Given the description of an element on the screen output the (x, y) to click on. 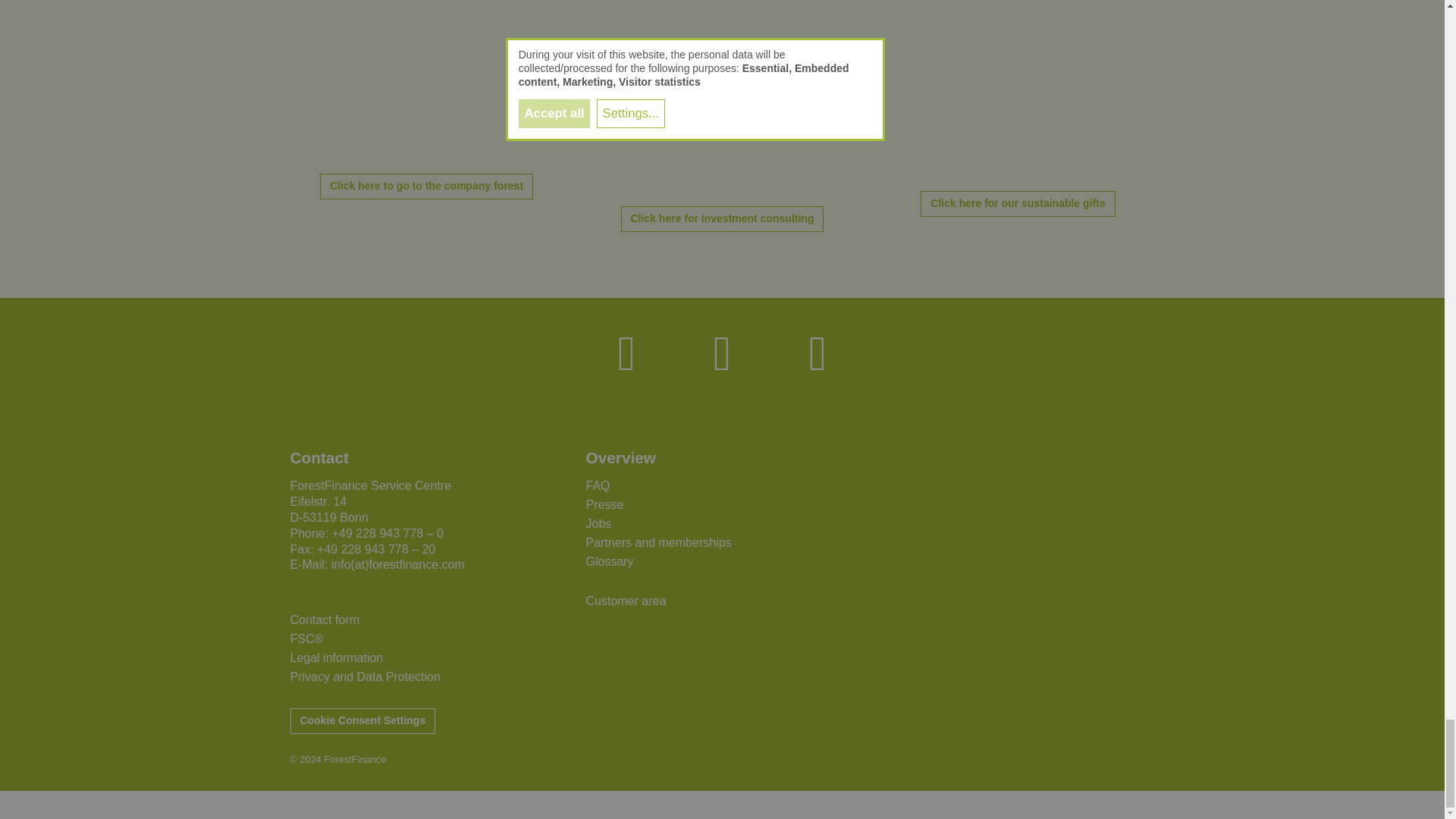
ForestFinance auf Facebook (626, 352)
ForestFinance auf Vimeo (817, 352)
ForestFinance auf instagram (722, 352)
